Given the description of an element on the screen output the (x, y) to click on. 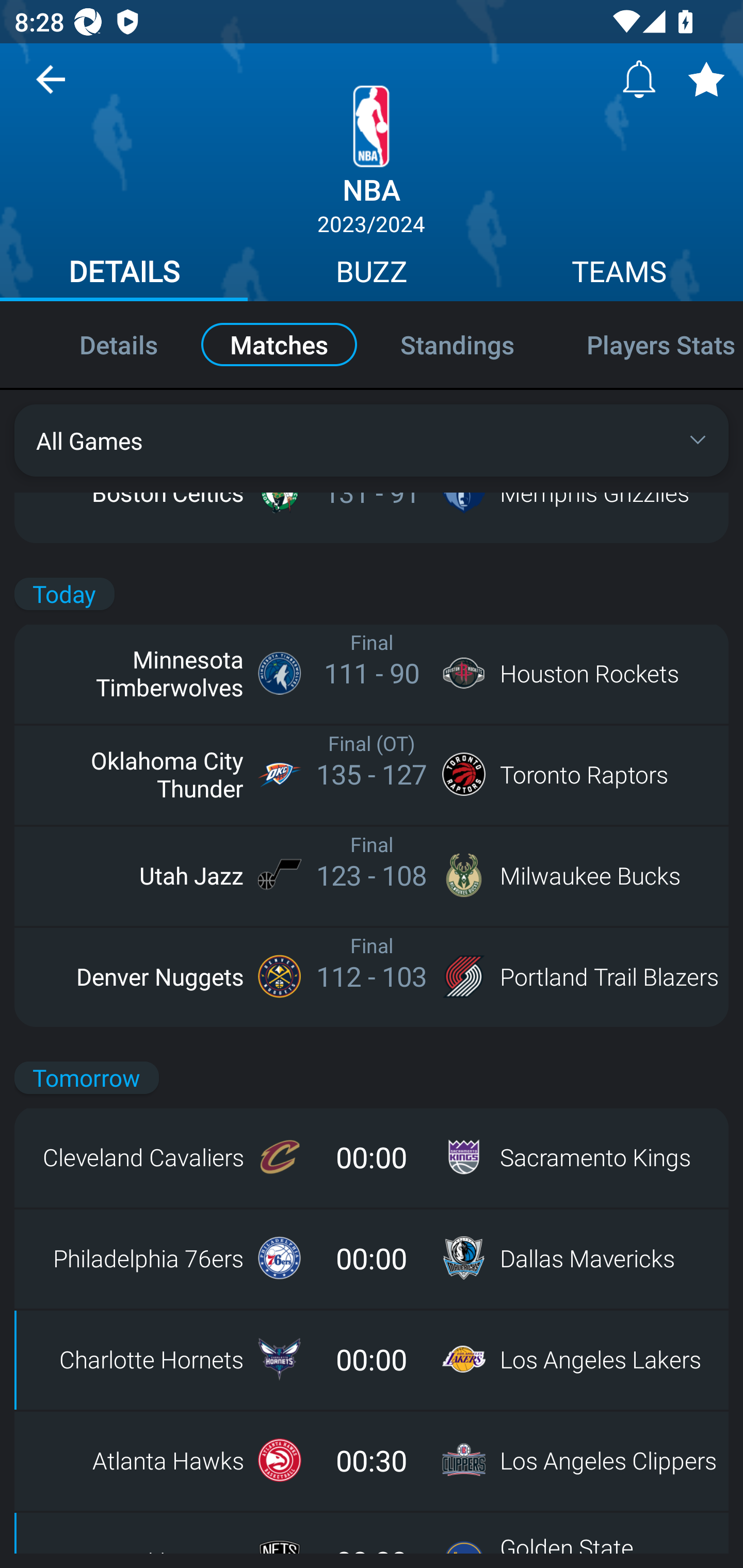
Navigate up (50, 86)
DETAILS (123, 274)
BUZZ (371, 274)
TEAMS (619, 274)
Details (96, 344)
Standings (457, 344)
Players Stats (646, 344)
All Games (371, 440)
Utah Jazz Final 123 - 108 Milwaukee Bucks (371, 874)
Cleveland Cavaliers 00:00 Sacramento Kings (371, 1157)
Philadelphia 76ers 00:00 Dallas Mavericks (371, 1258)
Charlotte Hornets 00:00 Los Angeles Lakers (371, 1359)
Atlanta Hawks 00:30 Los Angeles Clippers (371, 1459)
